Given the description of an element on the screen output the (x, y) to click on. 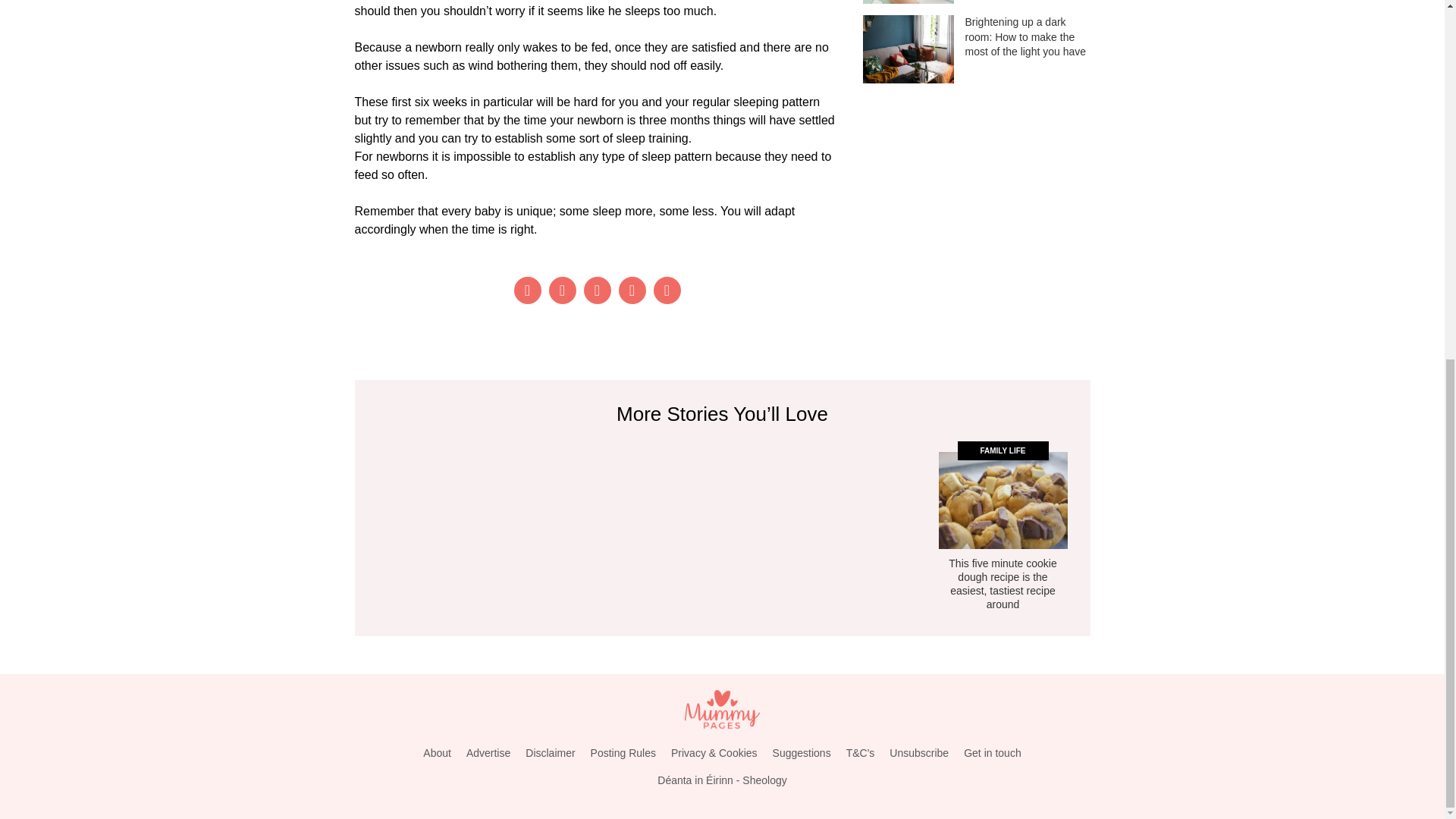
Posting Rules (623, 753)
Advertise (488, 753)
Get in touch (992, 753)
Suggestions (801, 753)
Unsubscribe (919, 753)
Sheology (764, 779)
Disclaimer (550, 753)
Email (667, 289)
About (436, 753)
